Given the description of an element on the screen output the (x, y) to click on. 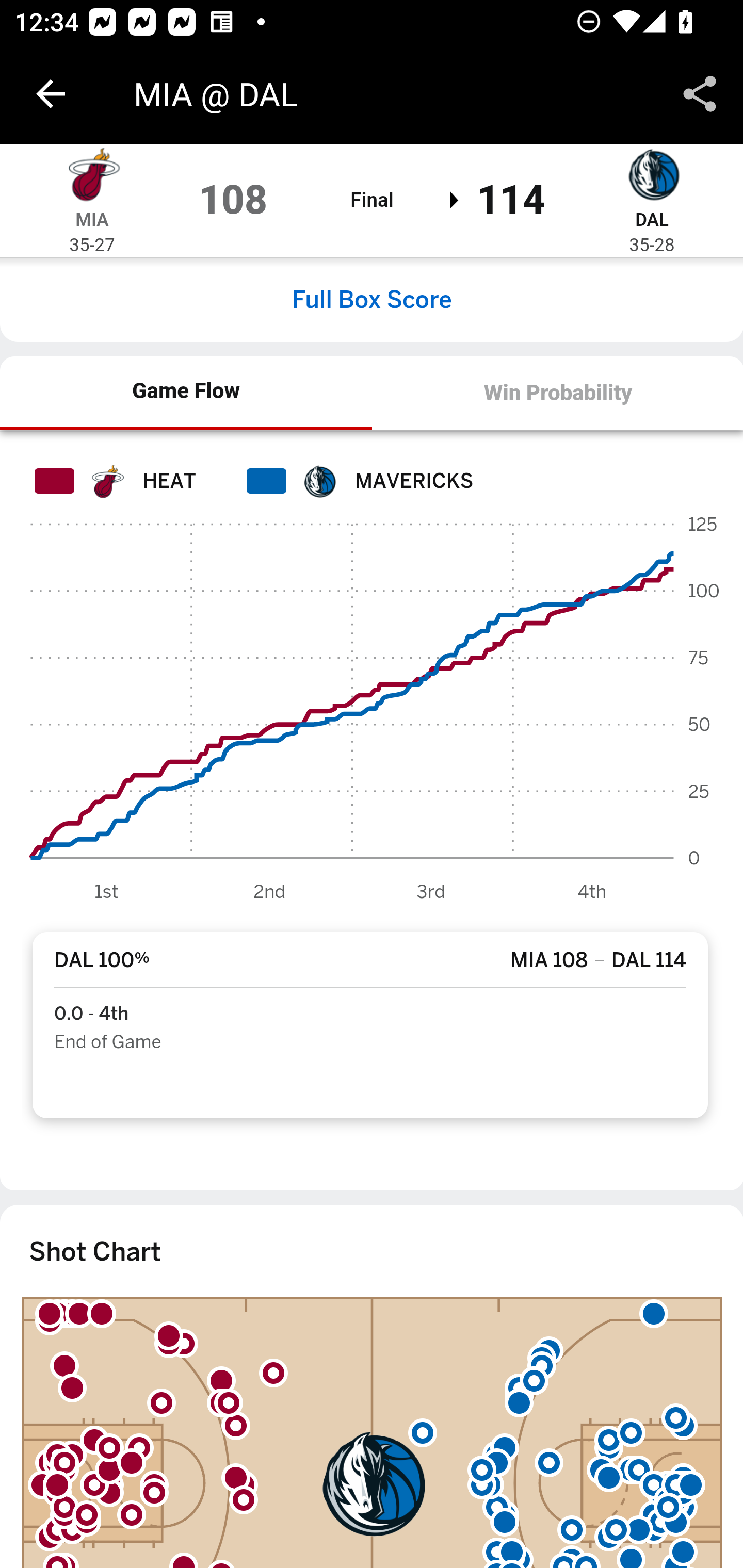
Navigate up (50, 93)
Share (699, 93)
Miami Heat (91, 173)
Dallas Mavericks (651, 173)
MIA (91, 219)
DAL (651, 219)
Full Box Score (371, 299)
Game Flow (186, 391)
Win Probability (557, 393)
Heat (106, 481)
#0064b1 (318, 481)
